Given the description of an element on the screen output the (x, y) to click on. 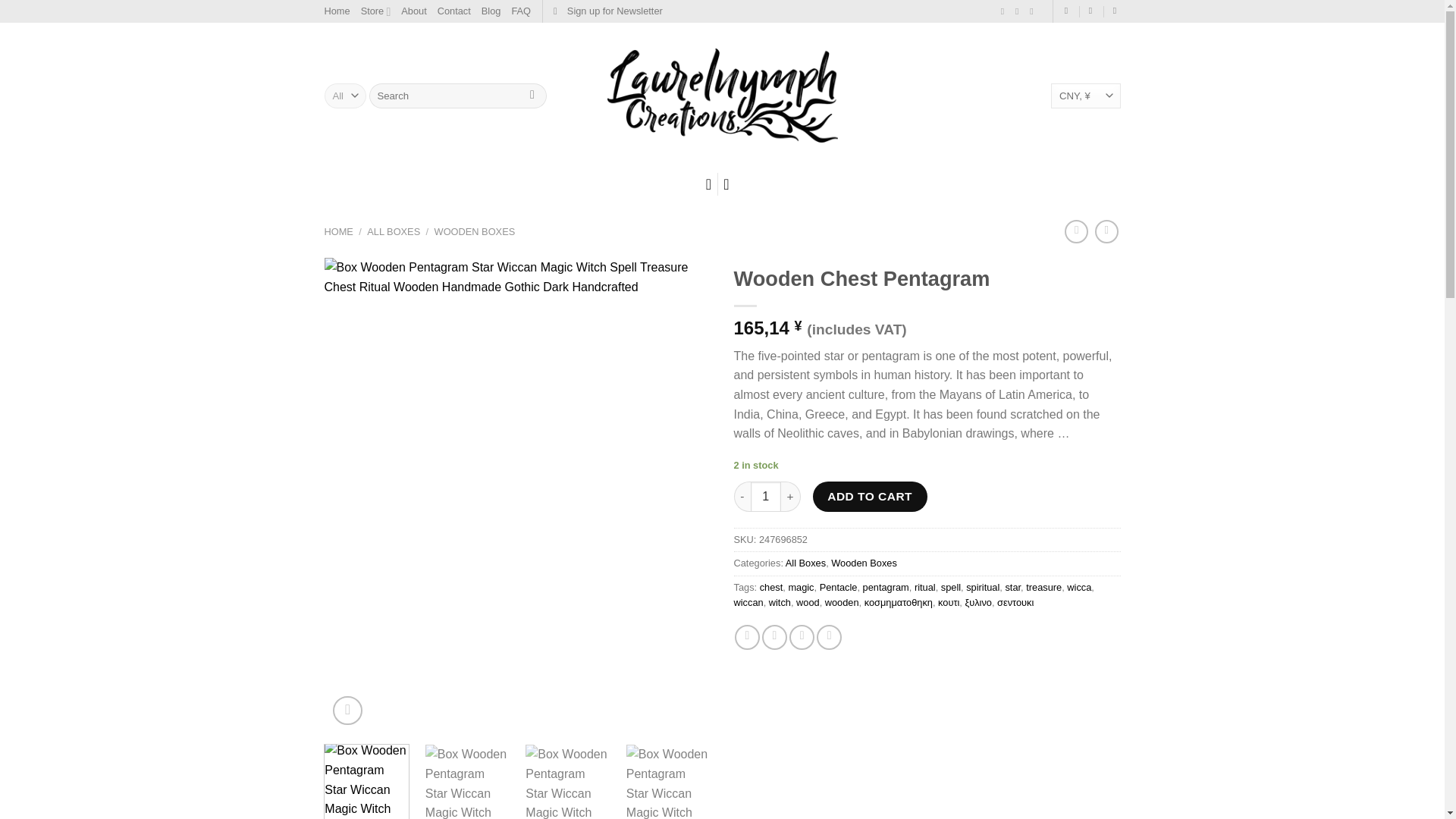
- (742, 496)
Contact (454, 11)
Home (337, 11)
0030 6976825561 (1117, 10)
Subscribe (607, 11)
Cart (730, 183)
HOME (338, 231)
Store (376, 11)
1 (765, 496)
Search (531, 95)
Follow on Instagram (1005, 10)
Sign up for Newsletter (607, 11)
08:00 - 17:00  (1092, 10)
FAQ (521, 11)
Follow on YouTube (1034, 10)
